Given the description of an element on the screen output the (x, y) to click on. 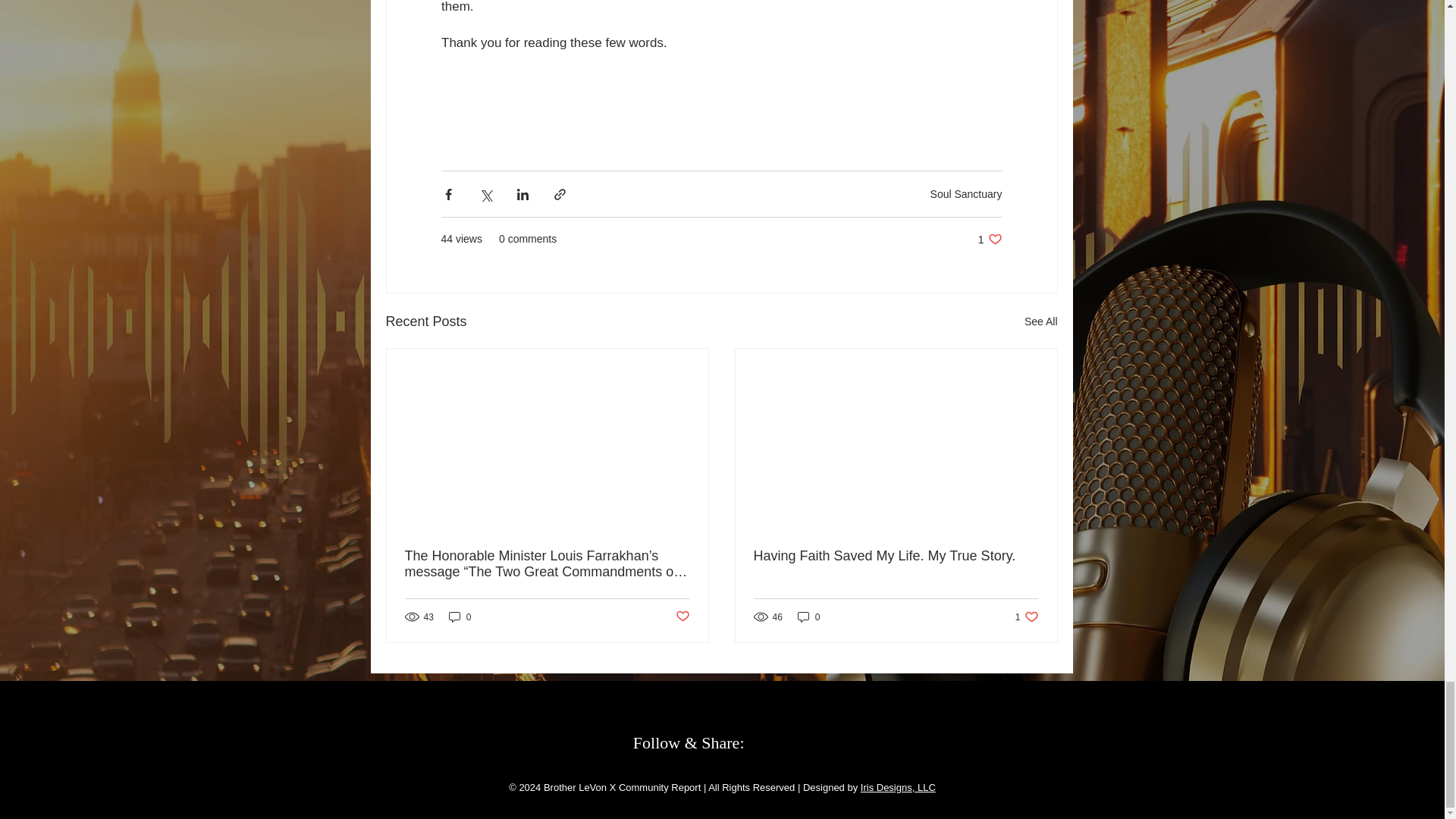
Having Faith Saved My Life. My True Story. (896, 555)
See All (1041, 321)
0 (809, 616)
Iris Designs, LLC (1026, 616)
0 (898, 787)
Soul Sanctuary (459, 616)
Post not marked as liked (966, 193)
